Given the description of an element on the screen output the (x, y) to click on. 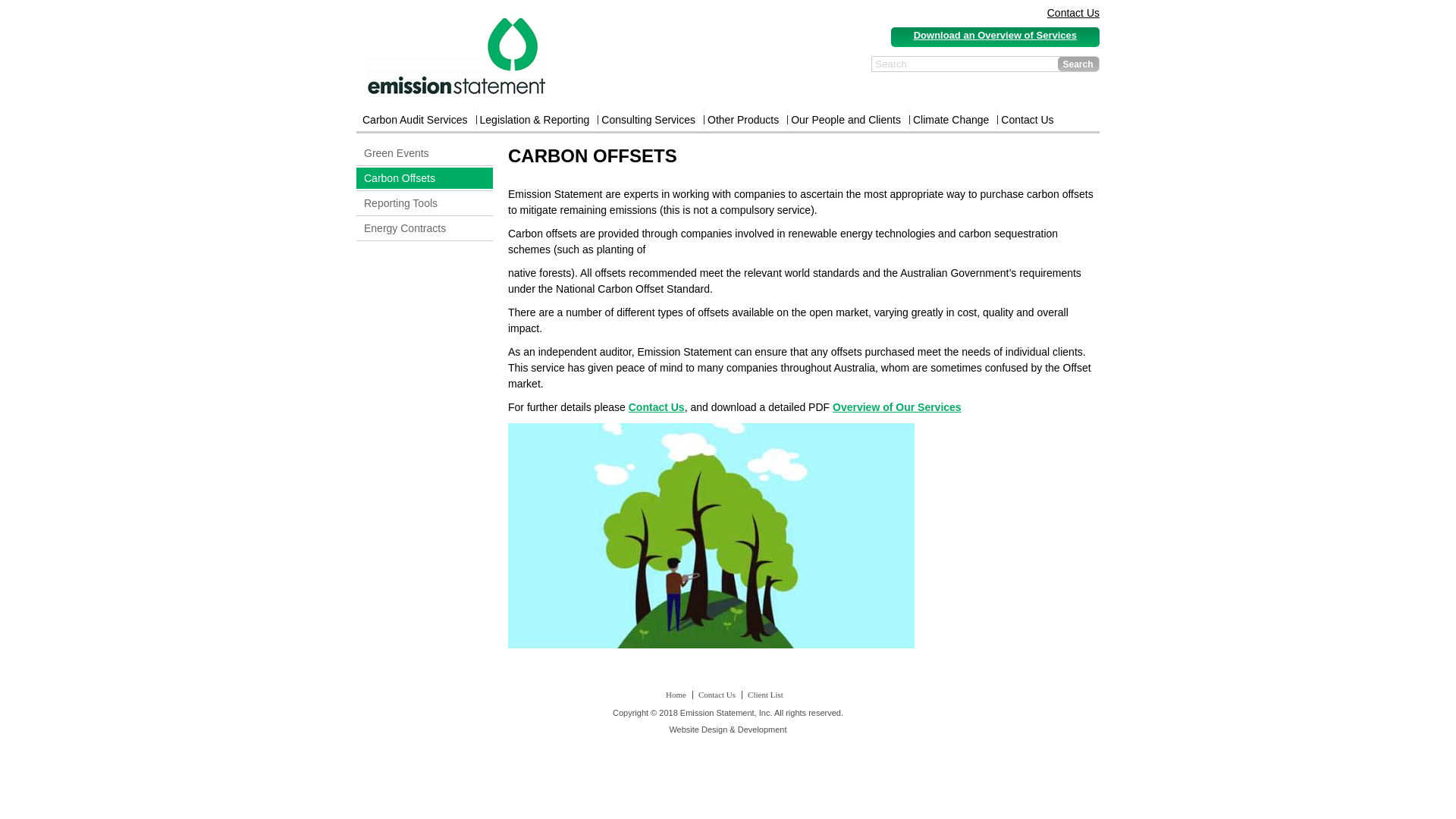
Consulting Services Element type: text (648, 119)
Our People and Clients Element type: text (845, 119)
Overview of Our Services Element type: text (896, 407)
Carbon Offsets Element type: text (424, 177)
Contact Us Element type: text (716, 694)
Other Products Element type: text (742, 119)
Climate Change Element type: text (950, 119)
Contact Us Element type: text (1026, 119)
Reporting Tools Element type: text (424, 202)
Website Design & Development Element type: text (727, 729)
Download an Overview of Services Element type: text (994, 33)
logo Element type: hover (456, 55)
Legislation & Reporting Element type: text (534, 119)
Energy Contracts Element type: text (424, 227)
Client List Element type: text (765, 694)
Home Element type: text (675, 694)
Carbon Audit Services Element type: text (414, 119)
Contact Us Element type: text (1073, 11)
Green Events Element type: text (424, 152)
Contact Us Element type: text (656, 407)
Search Element type: text (1077, 63)
